Given the description of an element on the screen output the (x, y) to click on. 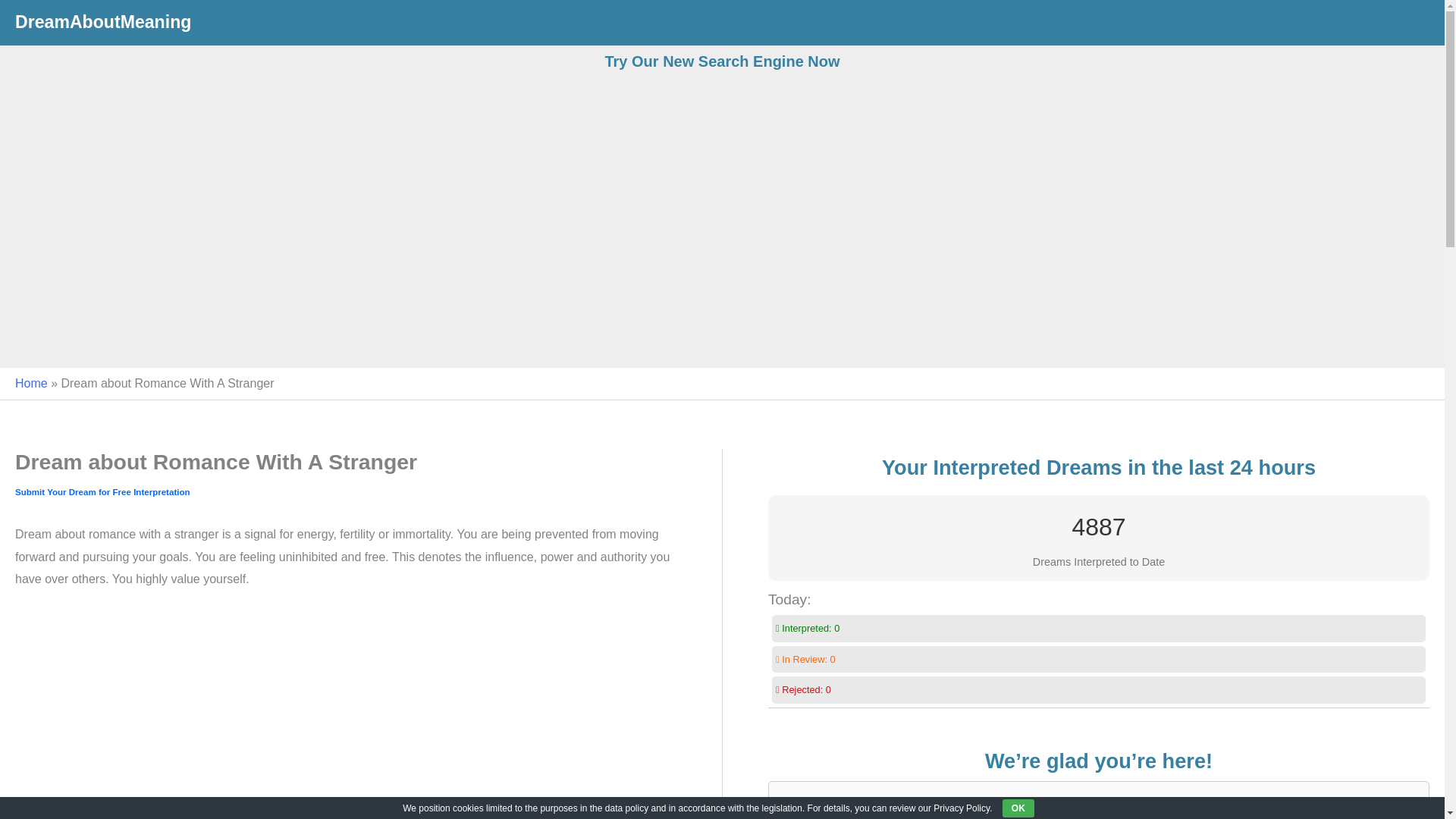
Home (31, 382)
Submit Your Dream for Free Interpretation (102, 491)
DreamAboutMeaning (102, 21)
Advertisement (345, 714)
